Given the description of an element on the screen output the (x, y) to click on. 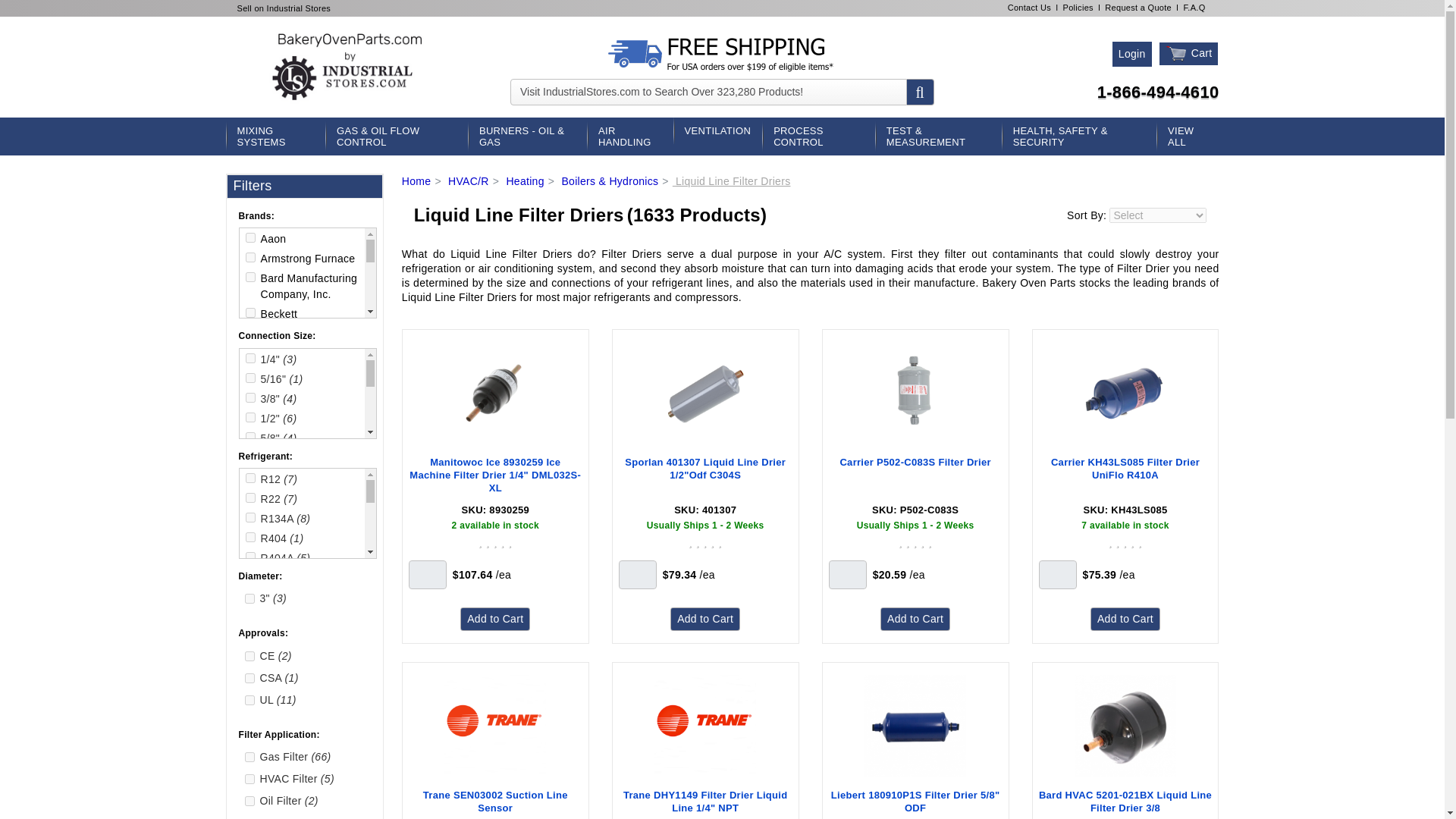
Request a Quote (1137, 7)
View Cart (1177, 53)
1145 (251, 636)
1084 (251, 557)
Add to Cart (1125, 618)
136 (251, 423)
AIR HANDLING (629, 136)
295 (251, 462)
View All Categories (1187, 136)
Add to Cart (915, 618)
Online superstore of bakery oven parts. (349, 66)
Carrier KH43LS085 Filter Drier UniFlo R410A (1125, 475)
181 (251, 368)
81 (251, 312)
My Cart (1189, 53)
